Given the description of an element on the screen output the (x, y) to click on. 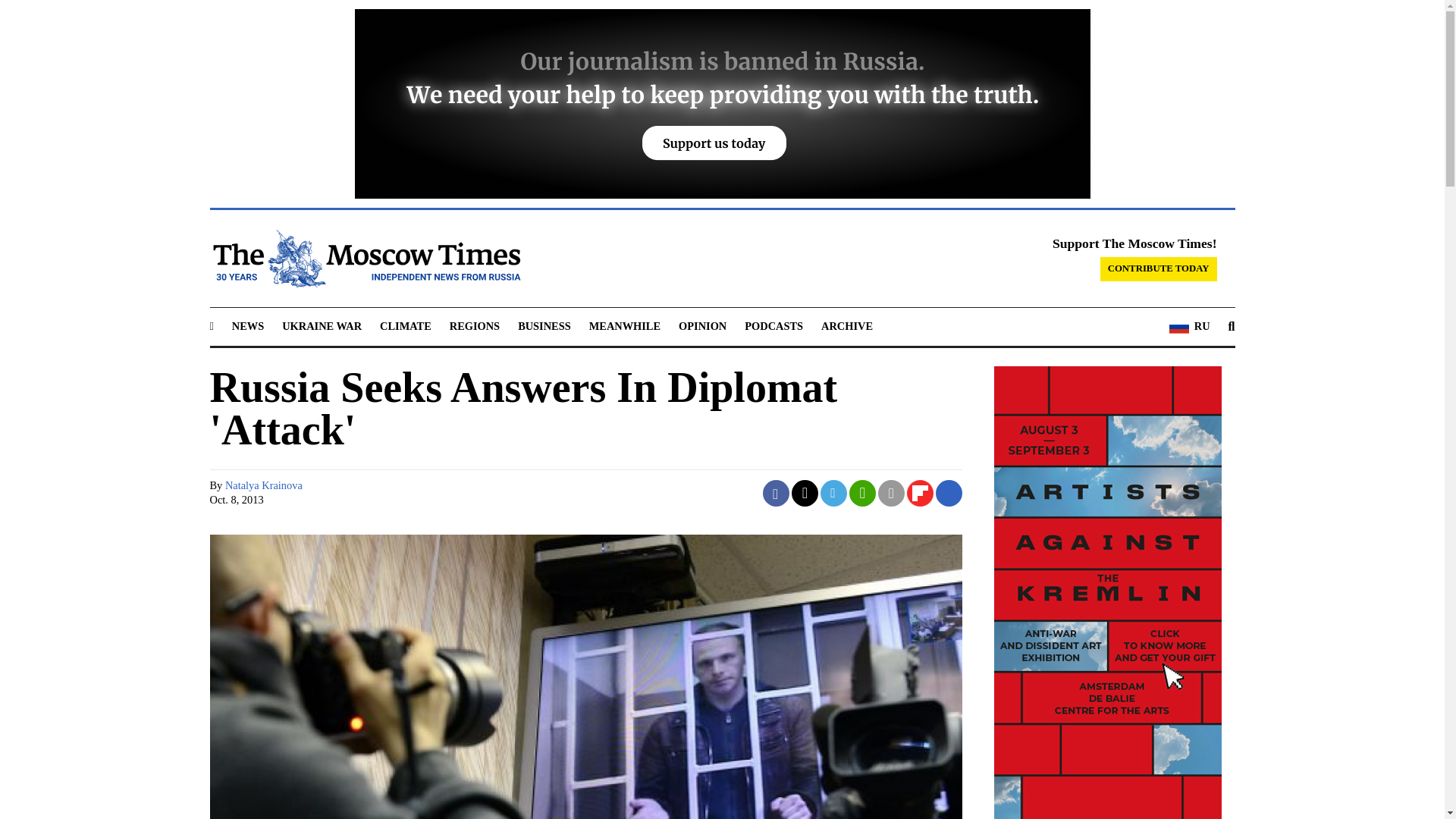
Natalya Krainova (263, 485)
REGIONS (474, 326)
CLIMATE (405, 326)
PODCASTS (773, 326)
ARCHIVE (846, 326)
Share on WhatsApp (863, 492)
The Moscow Times - Independent News from Russia (364, 258)
CONTRIBUTE TODAY (1158, 269)
Share with email (890, 492)
Share on Facebook (775, 492)
Share on Telegram (834, 492)
OPINION (702, 326)
UKRAINE WAR (321, 326)
Share on Twitter (805, 492)
RU (1189, 326)
